Given the description of an element on the screen output the (x, y) to click on. 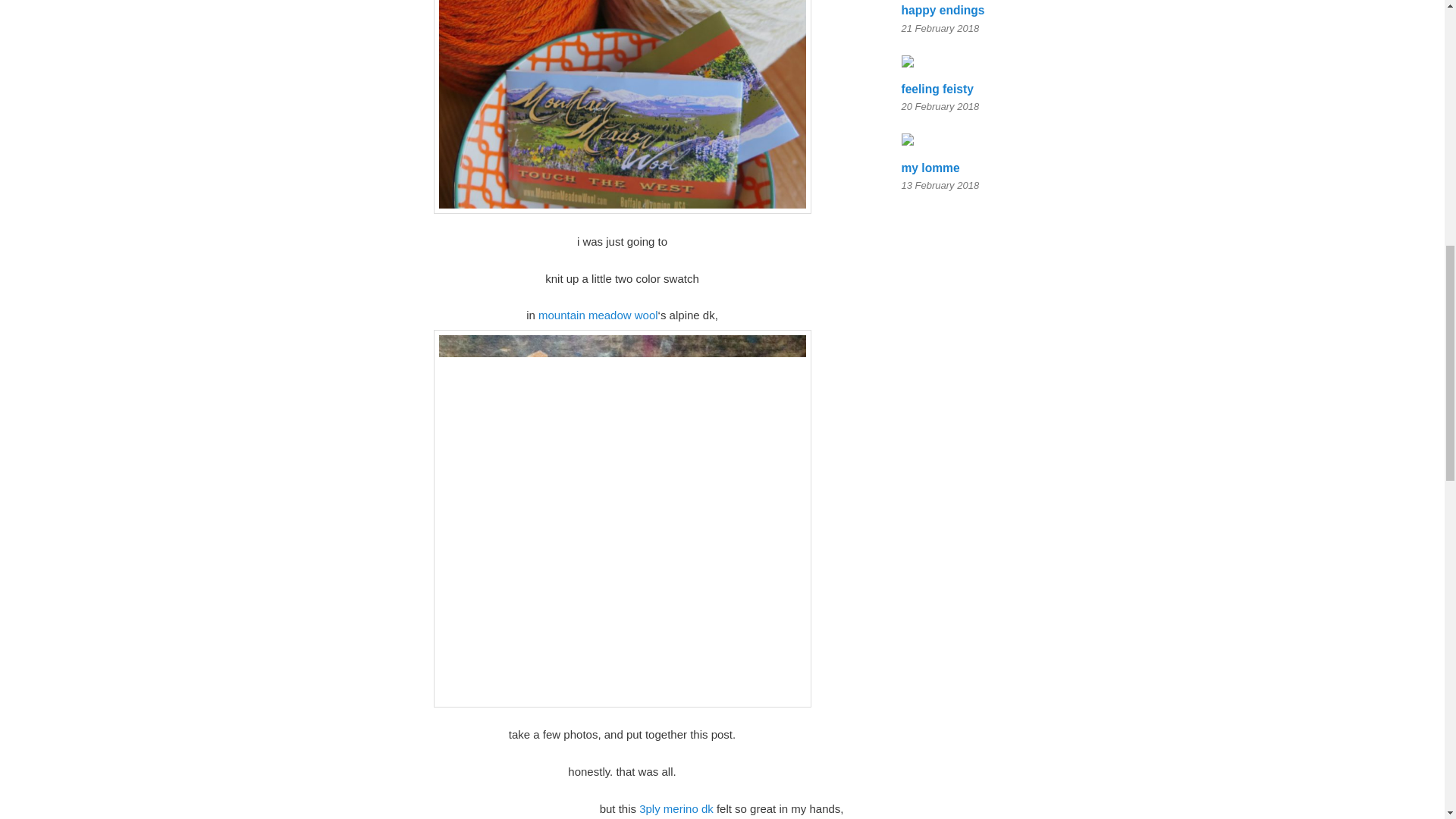
mountain meadow wool (598, 314)
happy endings (942, 9)
my lomme (930, 167)
3ply merino dk (676, 808)
feeling feisty (936, 88)
